Given the description of an element on the screen output the (x, y) to click on. 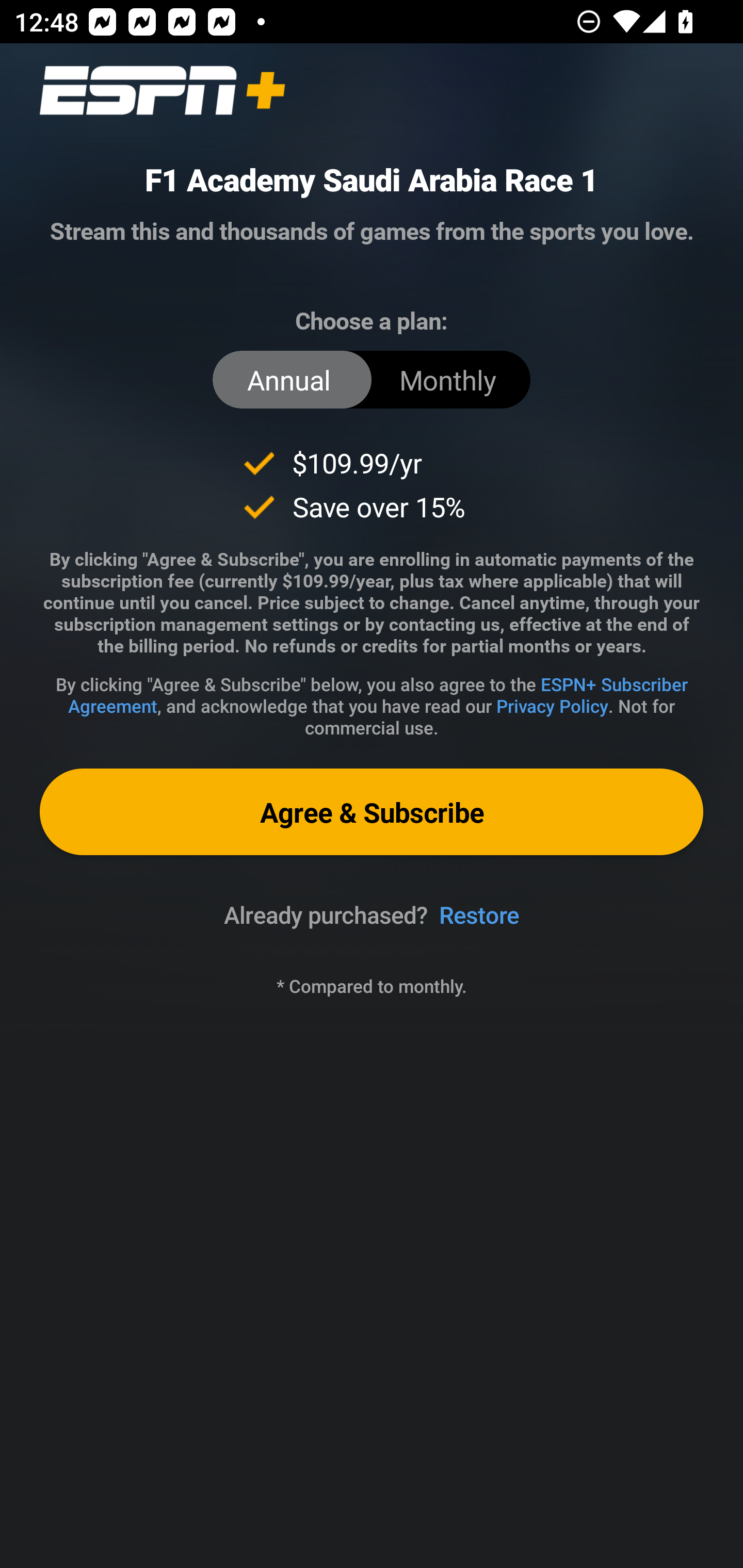
Agree & Subscribe (371, 811)
